Given the description of an element on the screen output the (x, y) to click on. 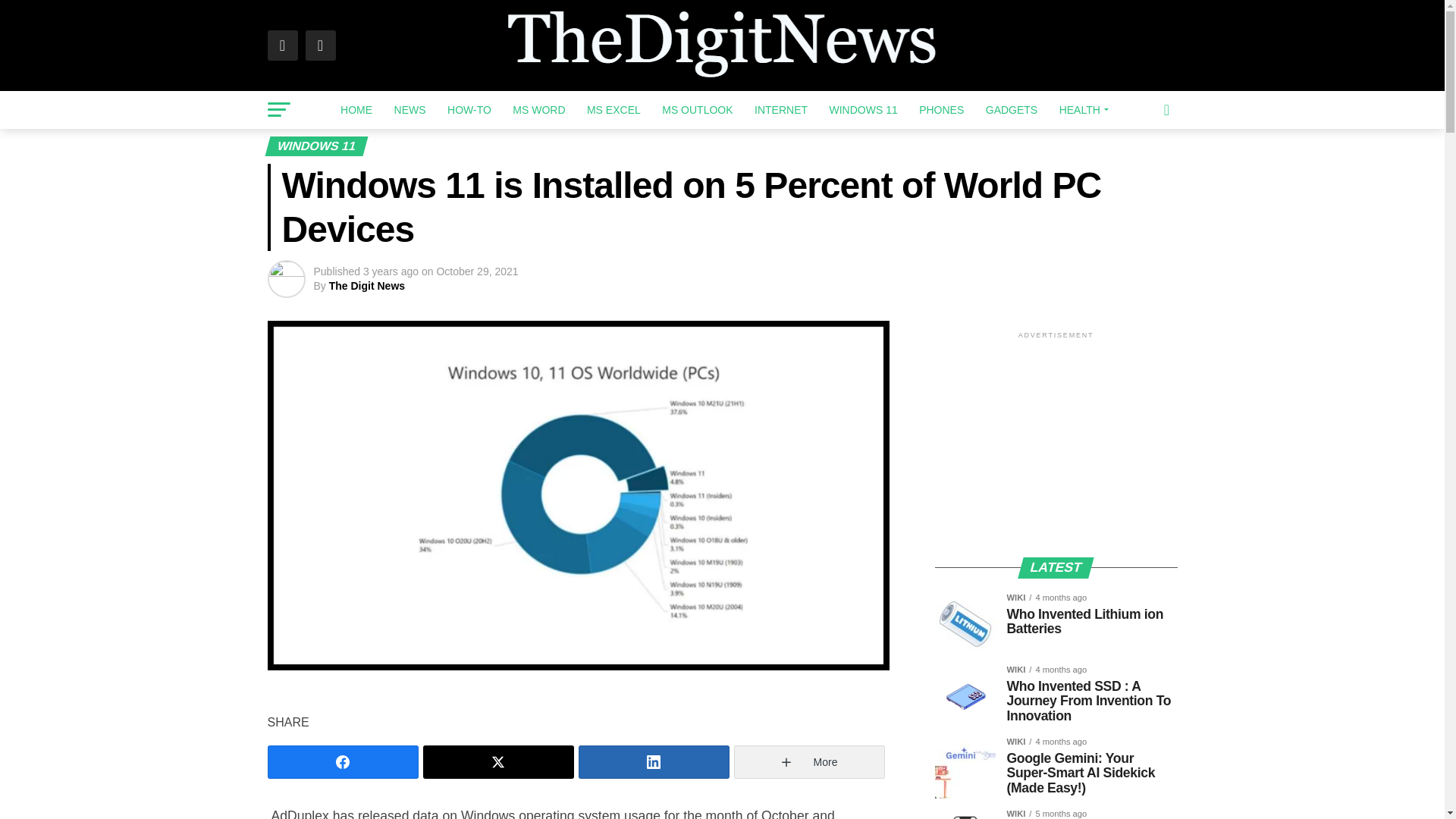
INTERNET (780, 109)
PHONES (941, 109)
HEALTH (1081, 109)
MS WORD (538, 109)
HOW-TO (469, 109)
NEWS (410, 109)
Posts by The Digit News (366, 285)
GADGETS (1011, 109)
MS EXCEL (613, 109)
The Digit News (366, 285)
Advertisement (1055, 443)
MS OUTLOOK (696, 109)
WINDOWS 11 (862, 109)
HOME (356, 109)
More (809, 761)
